Given the description of an element on the screen output the (x, y) to click on. 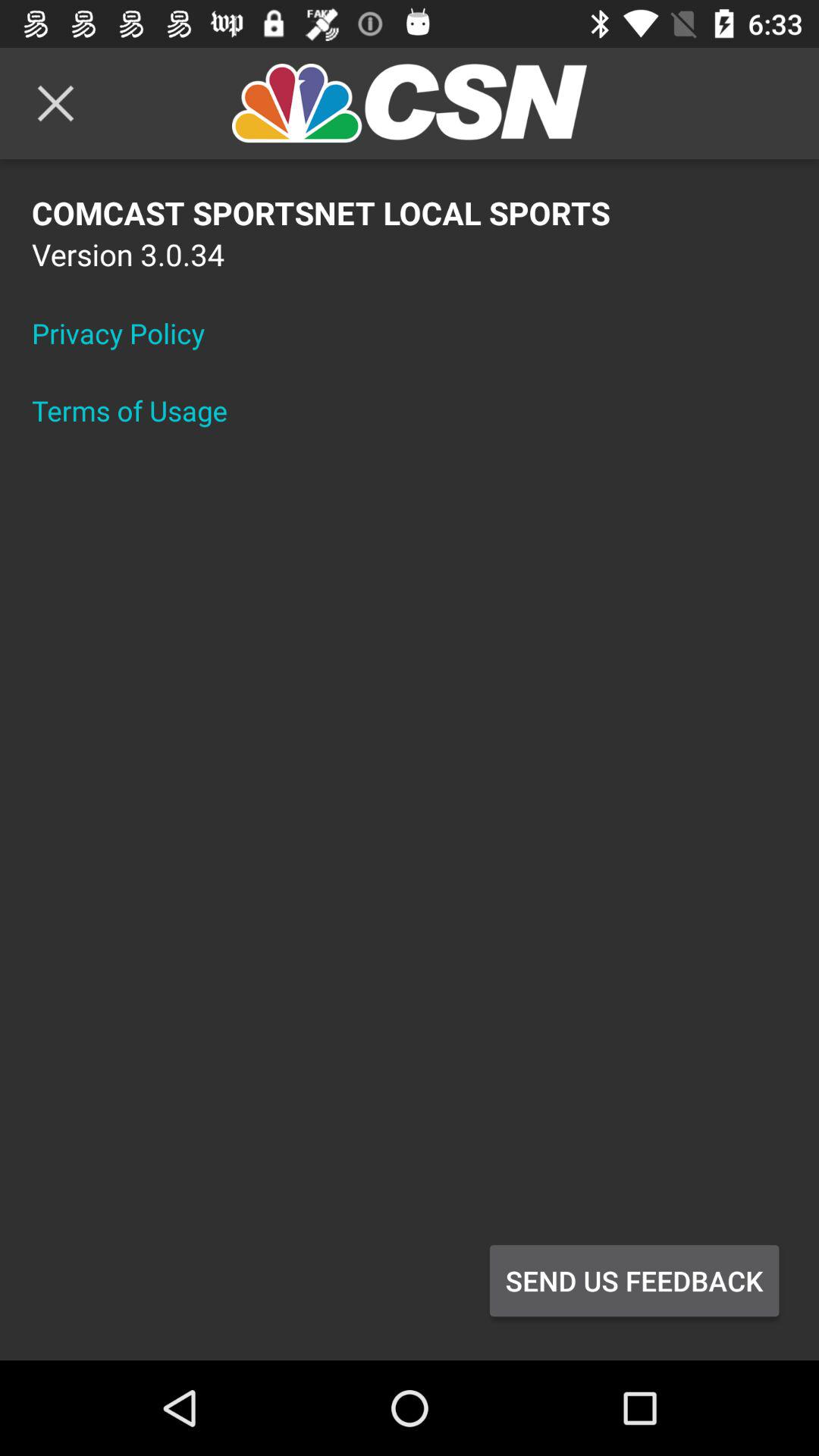
jump until the terms of usage item (139, 410)
